Given the description of an element on the screen output the (x, y) to click on. 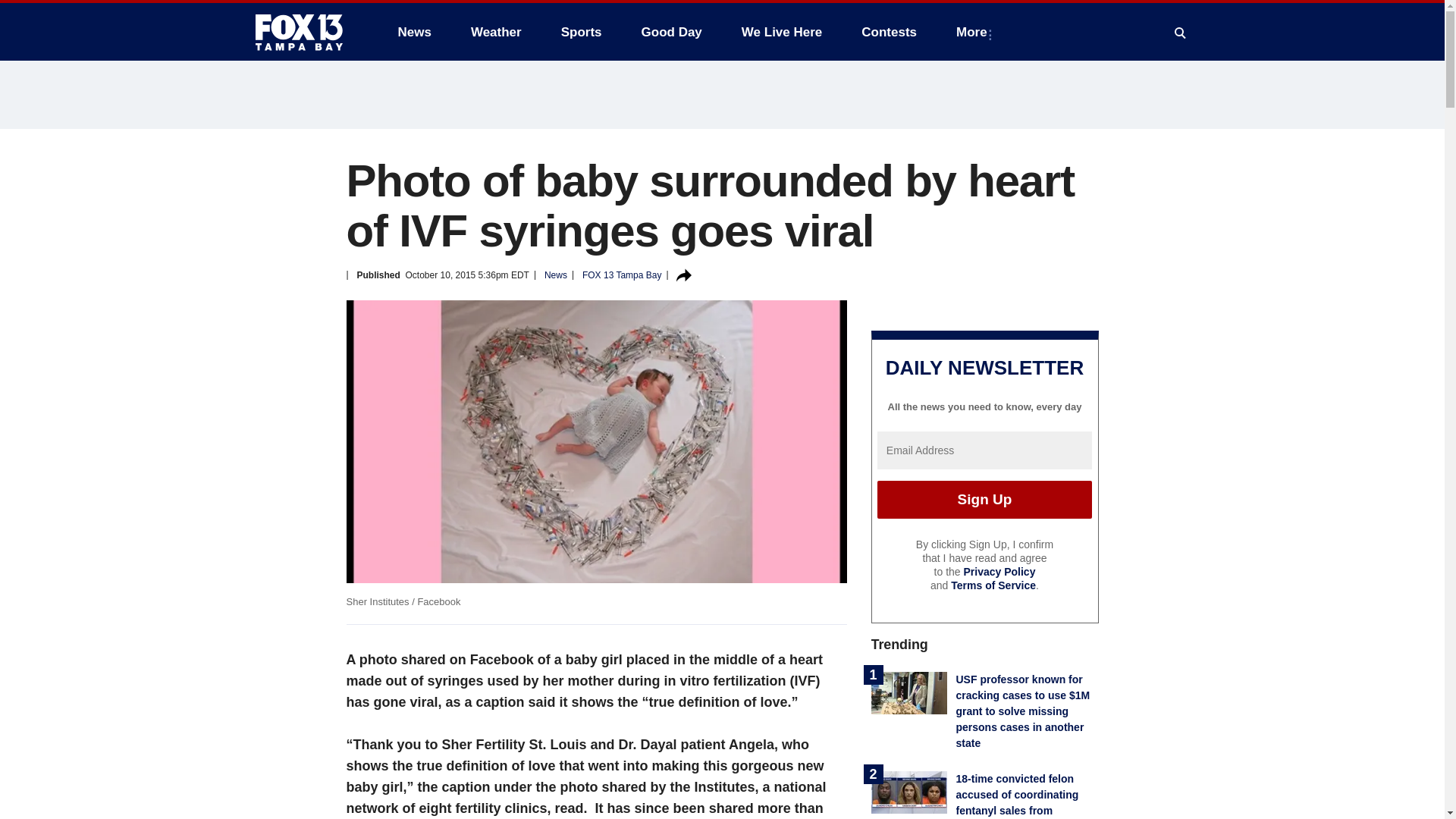
Weather (496, 32)
More (974, 32)
Sports (581, 32)
We Live Here (781, 32)
Contests (888, 32)
News (413, 32)
Good Day (671, 32)
Sign Up (984, 499)
